Given the description of an element on the screen output the (x, y) to click on. 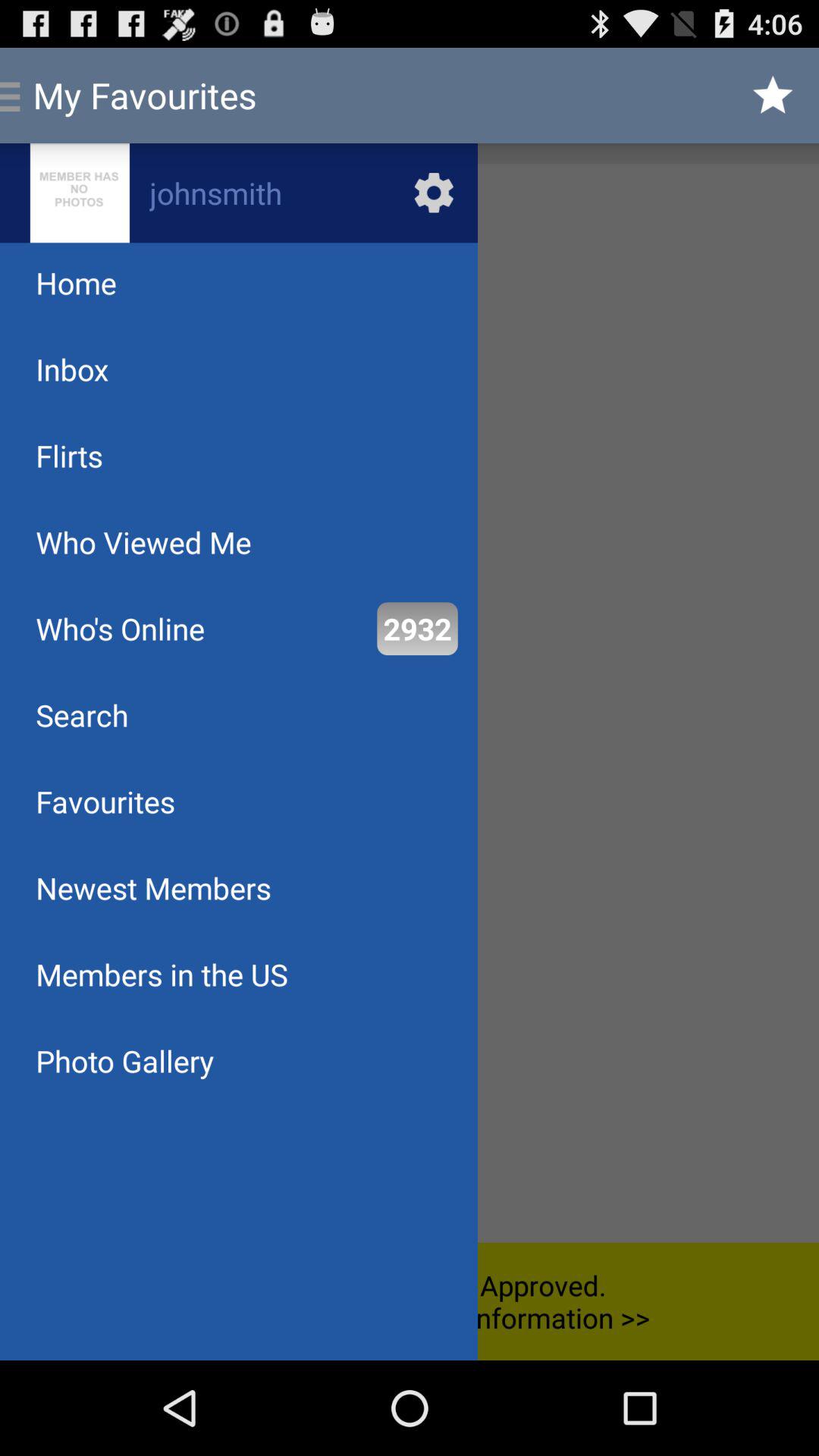
choose icon at the top right corner (773, 95)
